Given the description of an element on the screen output the (x, y) to click on. 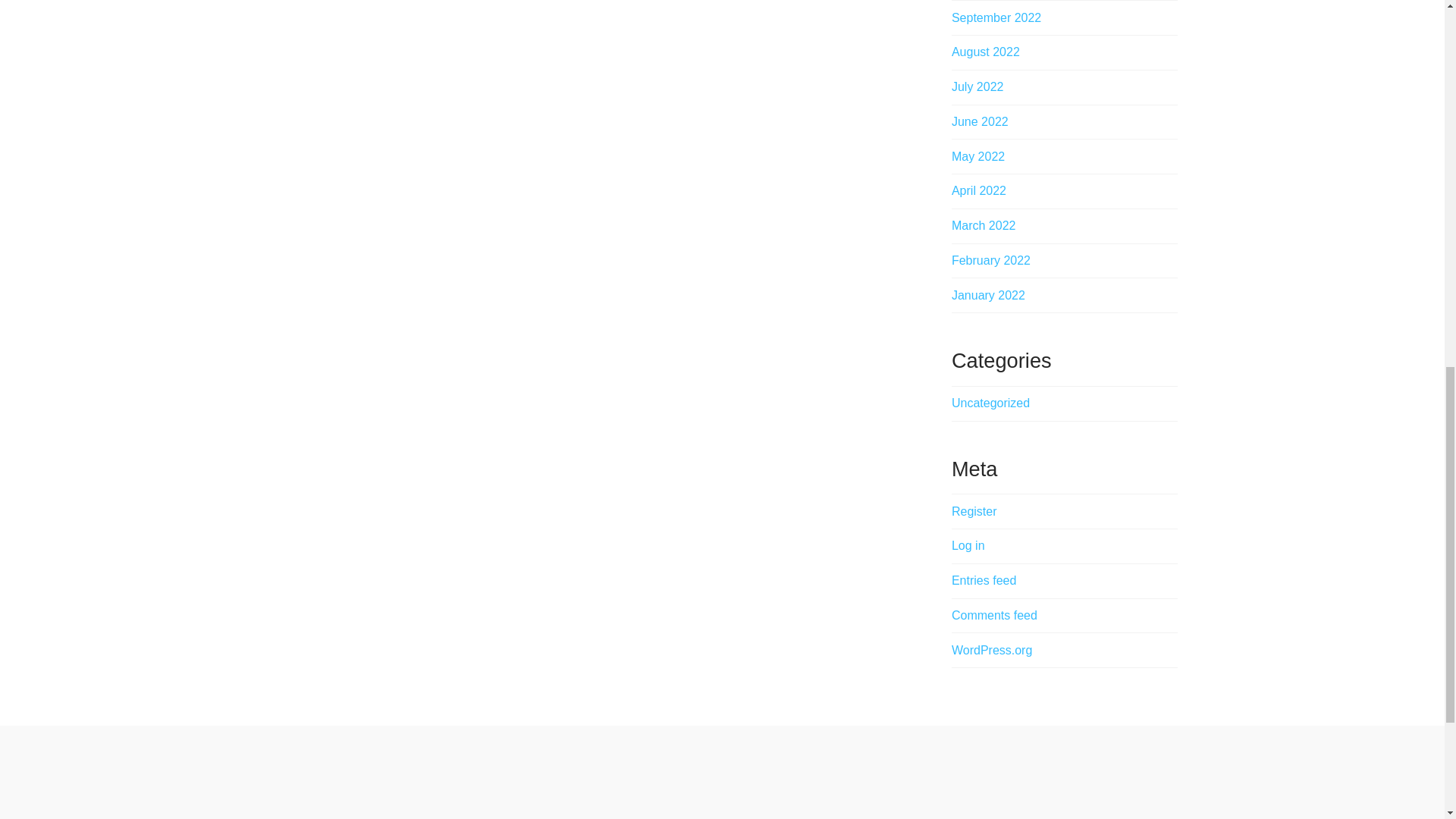
January 2022 (988, 295)
July 2022 (978, 86)
August 2022 (986, 51)
February 2022 (991, 259)
March 2022 (984, 225)
September 2022 (996, 17)
WordPress.org (992, 649)
Log in (968, 545)
Uncategorized (990, 402)
Comments feed (994, 615)
